Given the description of an element on the screen output the (x, y) to click on. 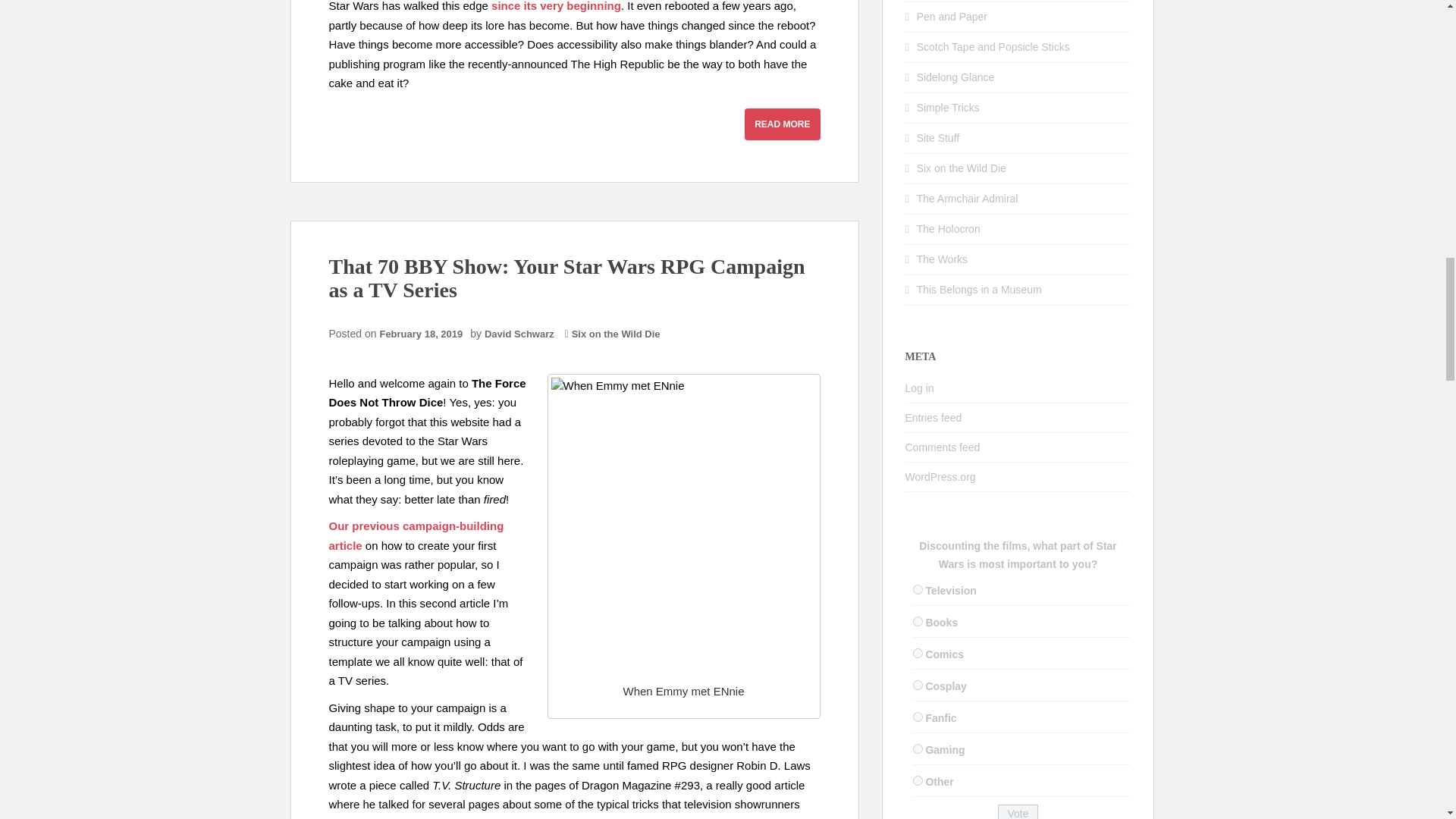
That 70 BBY Show: Your Star Wars RPG Campaign as a TV Series (567, 278)
80 (917, 685)
since its very beginning (556, 6)
82 (917, 748)
83 (917, 780)
READ MORE (781, 124)
81 (917, 716)
8:00 am (424, 333)
79 (917, 653)
78 (917, 621)
